Given the description of an element on the screen output the (x, y) to click on. 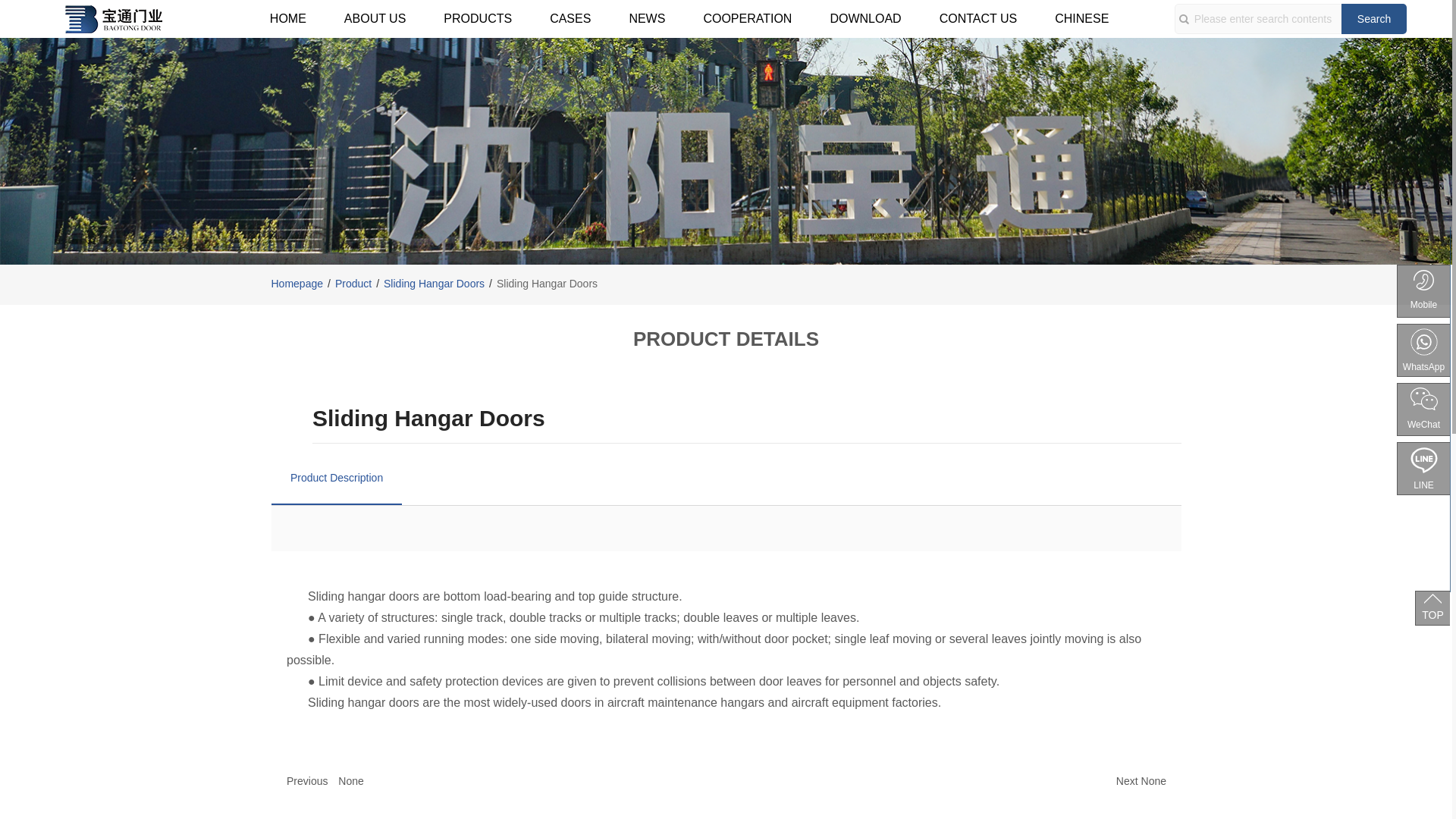
NEWS (647, 18)
ABOUT US (374, 18)
COOPERATION (747, 18)
PRODUCTS (478, 18)
DOWNLOAD (865, 18)
BAOTONGDOOR (113, 18)
CONTACT US (978, 18)
CASES (570, 18)
HOME (287, 18)
CHINESE (1080, 18)
